Given the description of an element on the screen output the (x, y) to click on. 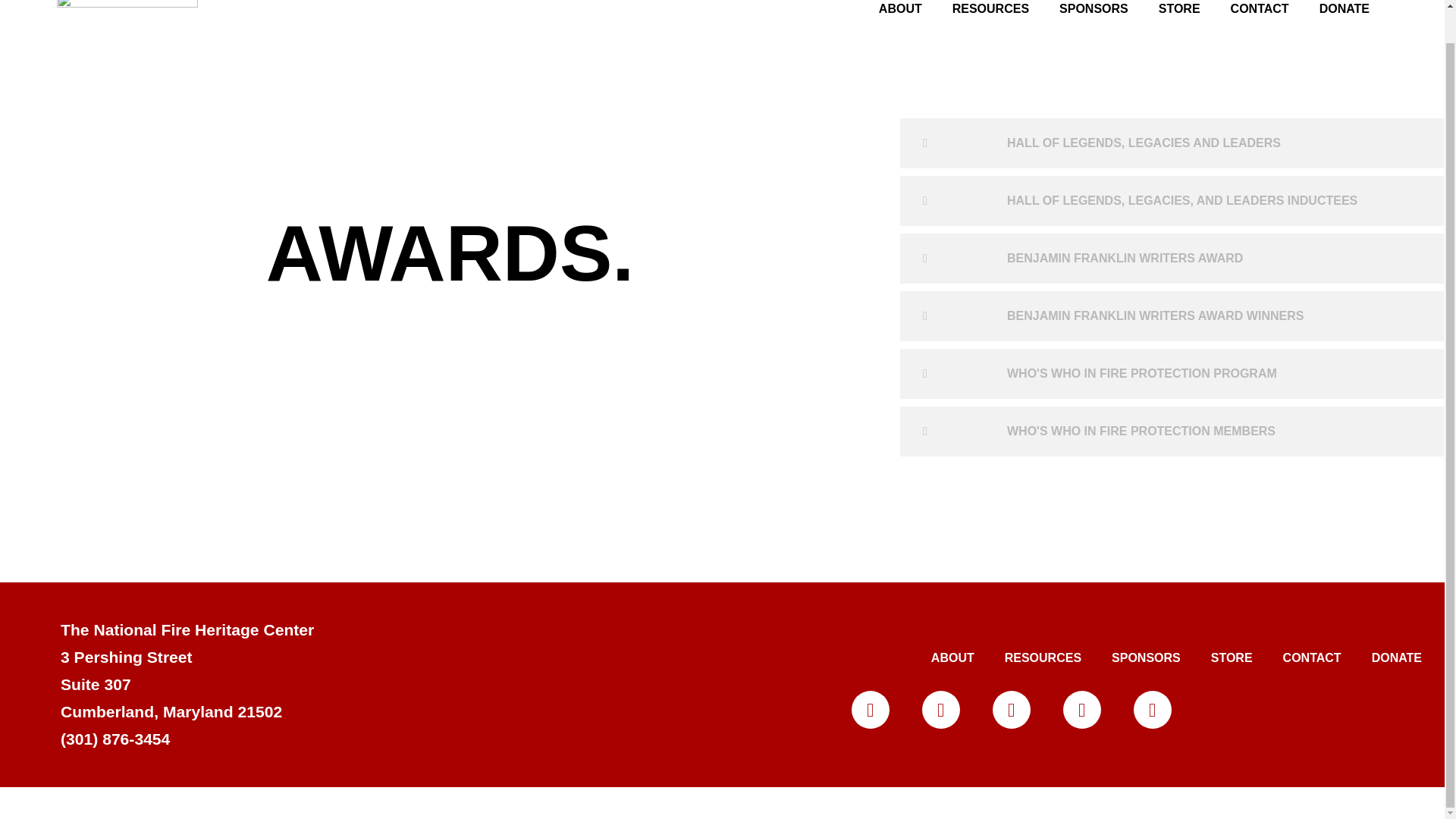
RESOURCES (990, 13)
STORE (1178, 13)
DONATE (1344, 13)
SPONSORS (1092, 13)
CONTACT (1259, 13)
ABOUT (900, 13)
